Given the description of an element on the screen output the (x, y) to click on. 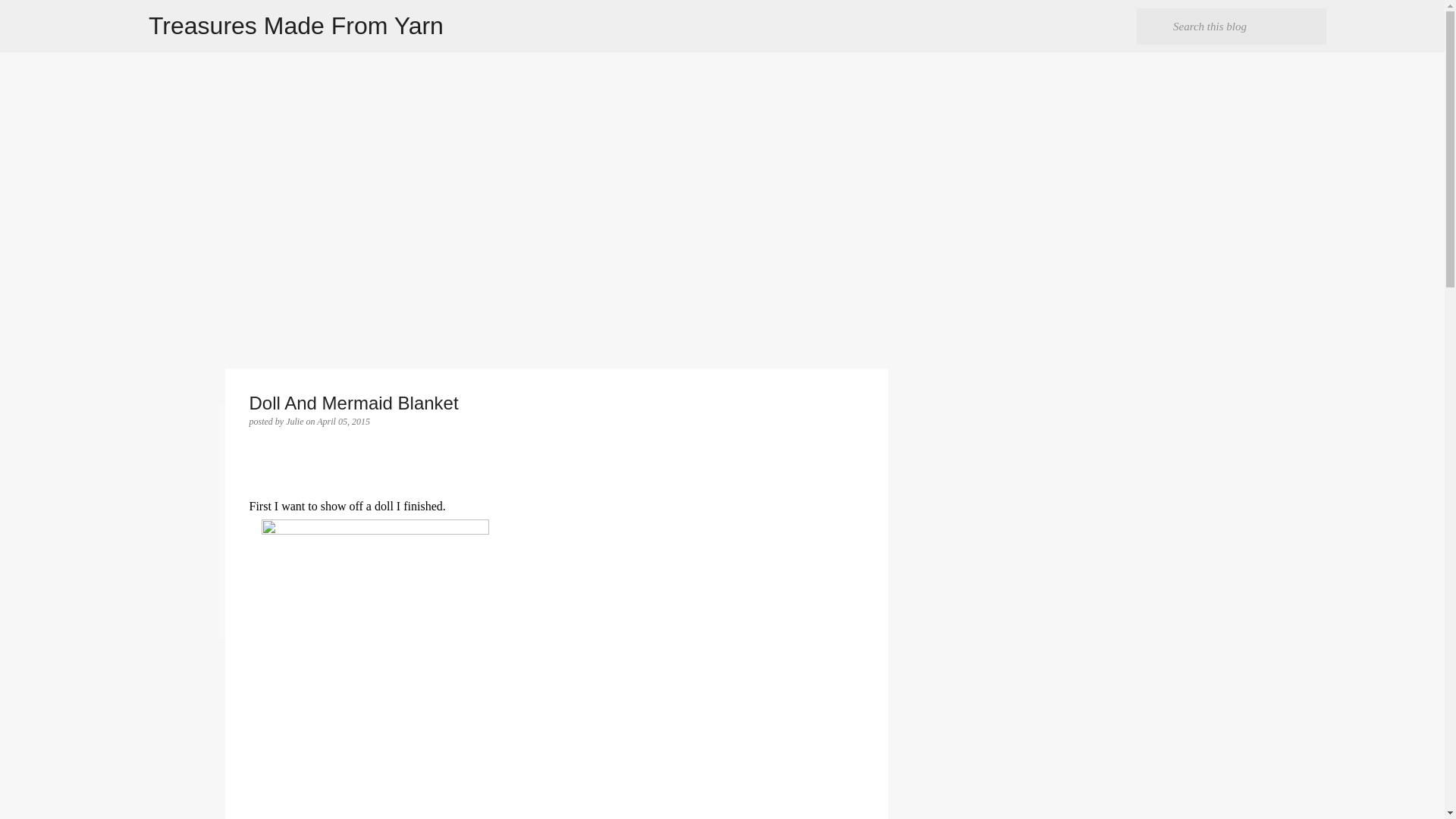
Treasures Made From Yarn (296, 25)
April 05, 2015 (343, 421)
Julie (295, 421)
author profile (295, 421)
juliehuston (390, 521)
permanent link (343, 421)
